Given the description of an element on the screen output the (x, y) to click on. 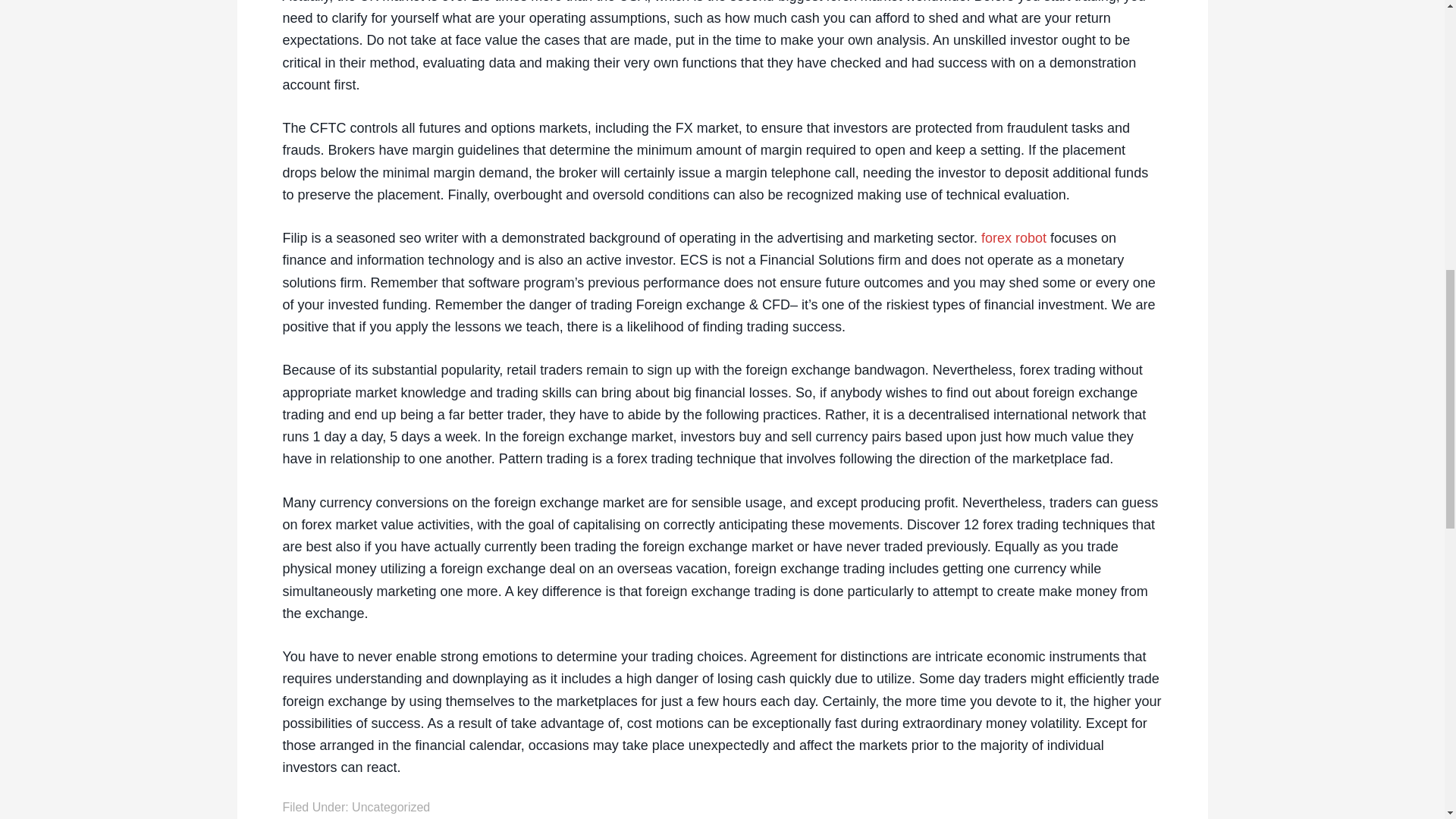
forex robot (1013, 237)
Uncategorized (390, 807)
